Given the description of an element on the screen output the (x, y) to click on. 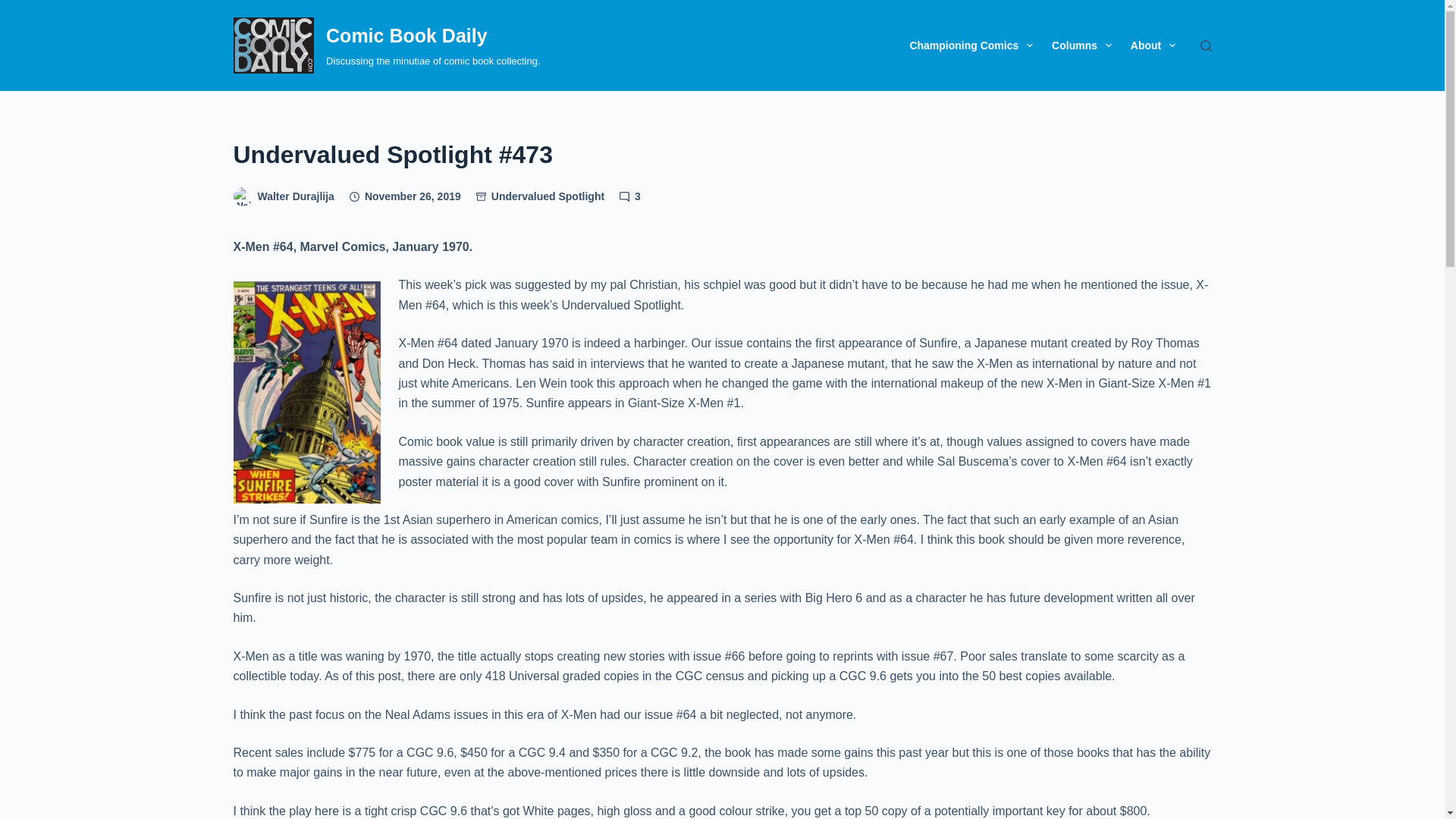
Comic Book Daily (406, 35)
Championing Comics (970, 45)
Posts by Walter Durajlija (295, 196)
Skip to content (15, 7)
